Given the description of an element on the screen output the (x, y) to click on. 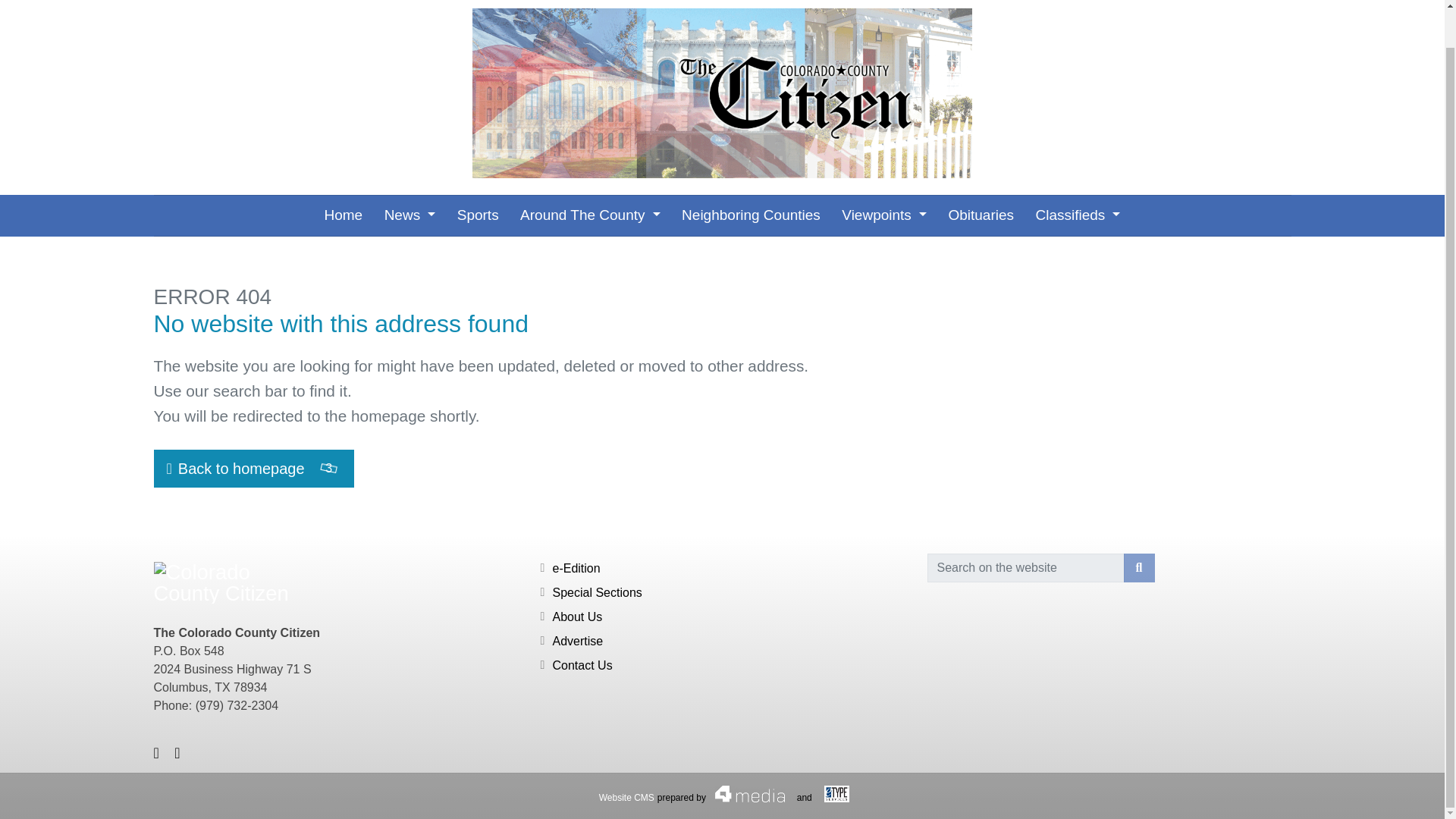
Search (1139, 567)
Around The County (590, 215)
Home (343, 215)
Special Sections (596, 592)
e-Edition (575, 567)
Obituaries (981, 215)
Website CMS (625, 797)
www.etypeservices.com (837, 793)
Neighboring Counties (750, 215)
Advertise (576, 640)
